Given the description of an element on the screen output the (x, y) to click on. 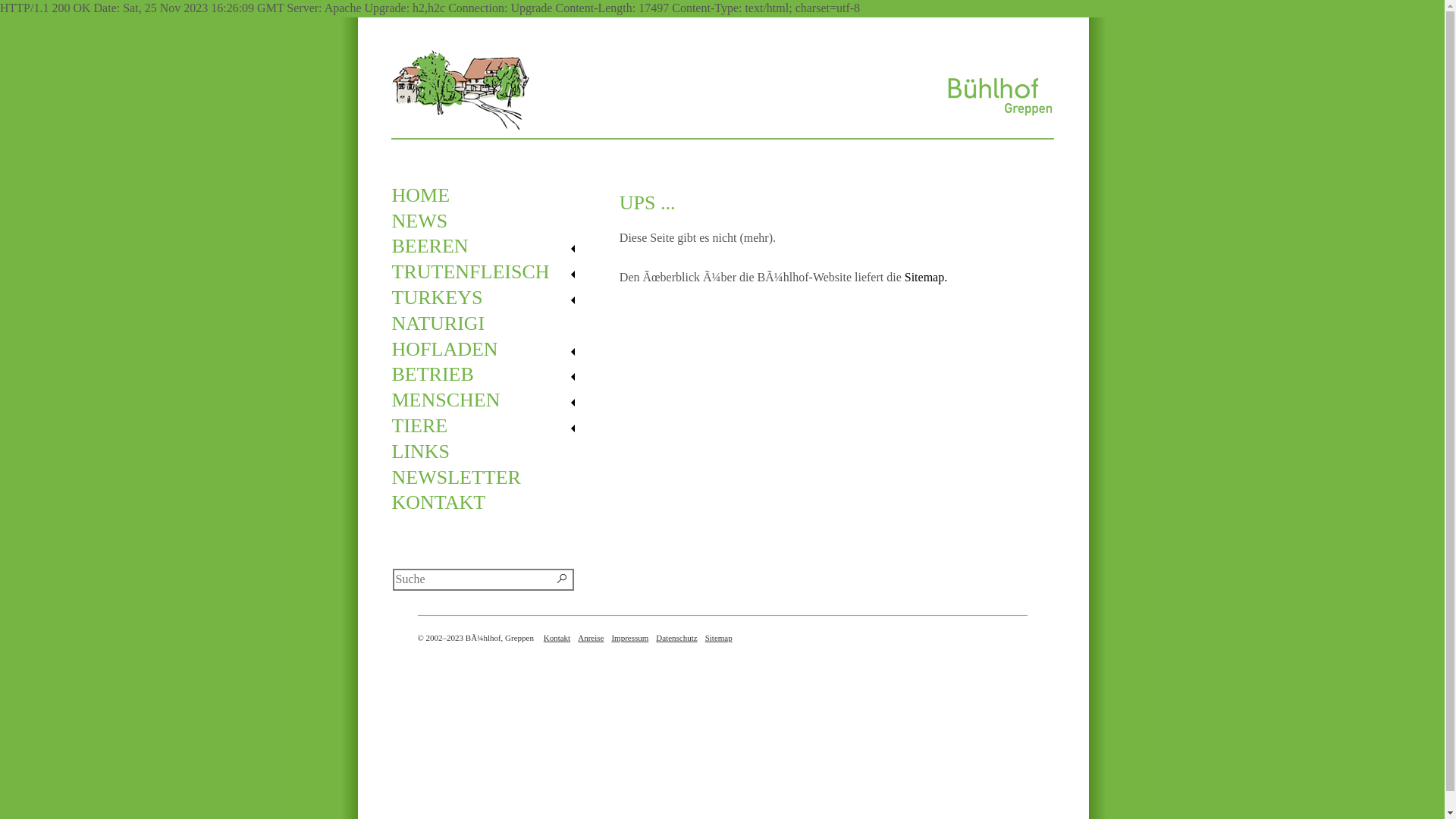
Sitemap. Element type: text (925, 276)
Sitemap Element type: text (718, 637)
Anreise Element type: text (590, 637)
NATURIGI Element type: text (489, 323)
TURKEYS Element type: text (489, 297)
TRUTENFLEISCH Element type: text (489, 272)
TIERE Element type: text (489, 426)
HOFLADEN Element type: text (489, 349)
Kontakt Element type: text (556, 637)
Impressum Element type: text (629, 637)
KONTAKT Element type: text (489, 502)
LINKS Element type: text (489, 451)
NEWSLETTER Element type: text (489, 477)
HOME Element type: text (489, 195)
BEEREN Element type: text (489, 246)
MENSCHEN Element type: text (489, 400)
BETRIEB Element type: text (489, 374)
NEWS Element type: text (489, 221)
Datenschutz Element type: text (675, 637)
